Given the description of an element on the screen output the (x, y) to click on. 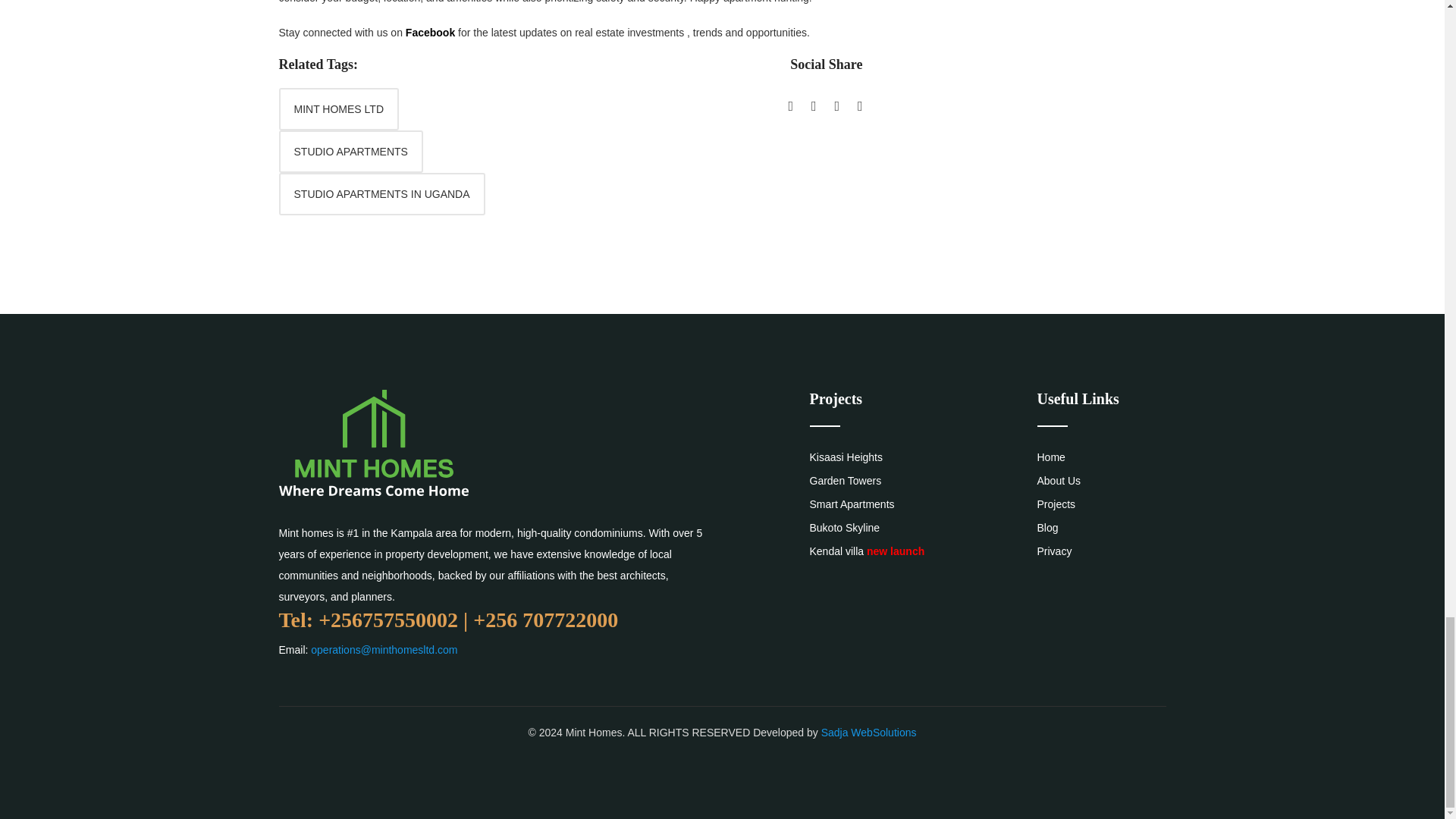
STUDIO APARTMENTS IN UGANDA (381, 193)
STUDIO APARTMENTS (351, 151)
MINT HOMES LTD (338, 108)
Facebook (430, 32)
